Given the description of an element on the screen output the (x, y) to click on. 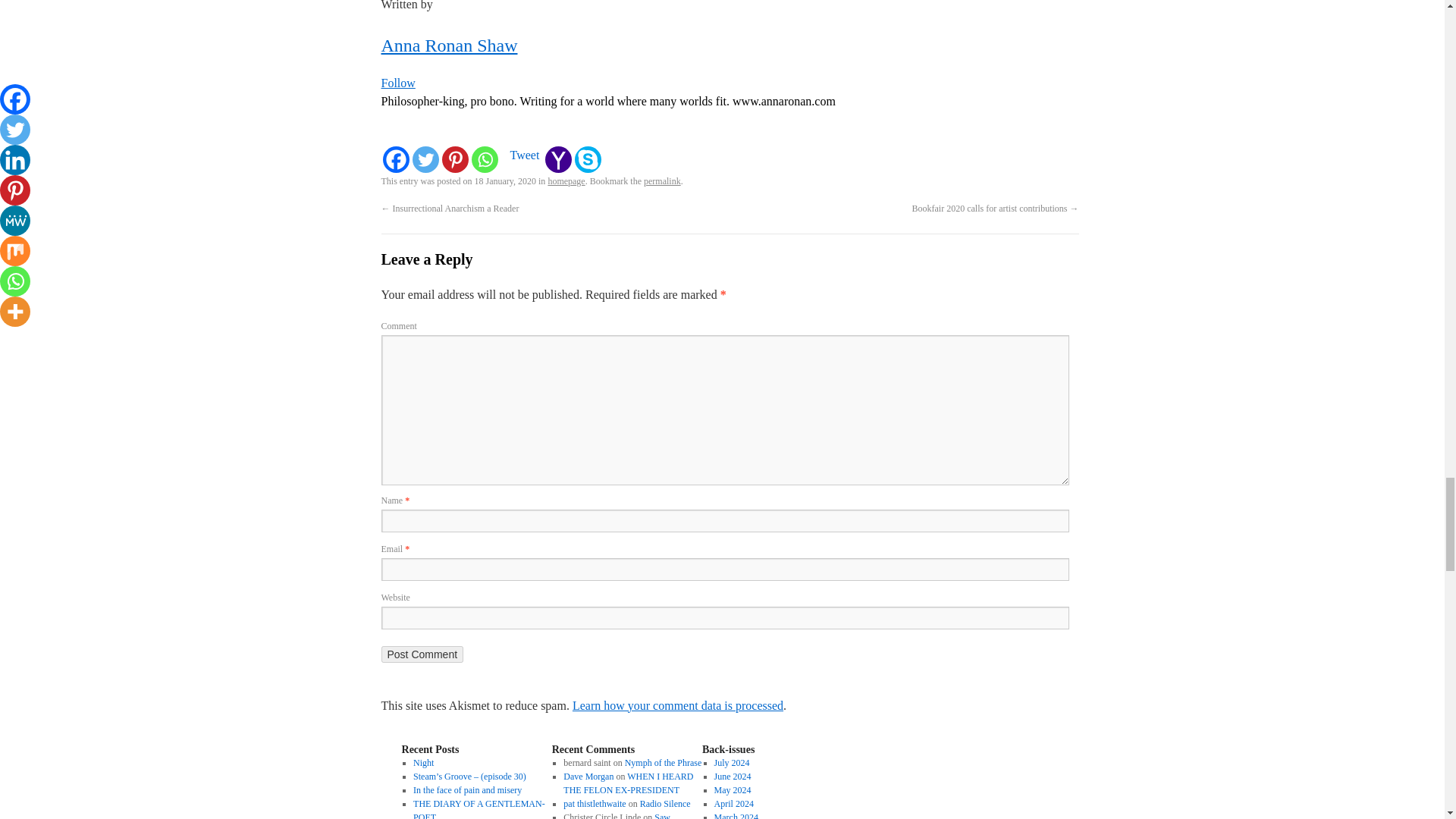
Facebook (395, 159)
Post Comment (421, 654)
Anna Ronan Shaw (448, 45)
Whatsapp (484, 159)
Tweet (523, 155)
Pinterest (454, 159)
Twitter (425, 159)
Follow (397, 82)
Yahoo Mail (558, 159)
Skype (588, 159)
